Given the description of an element on the screen output the (x, y) to click on. 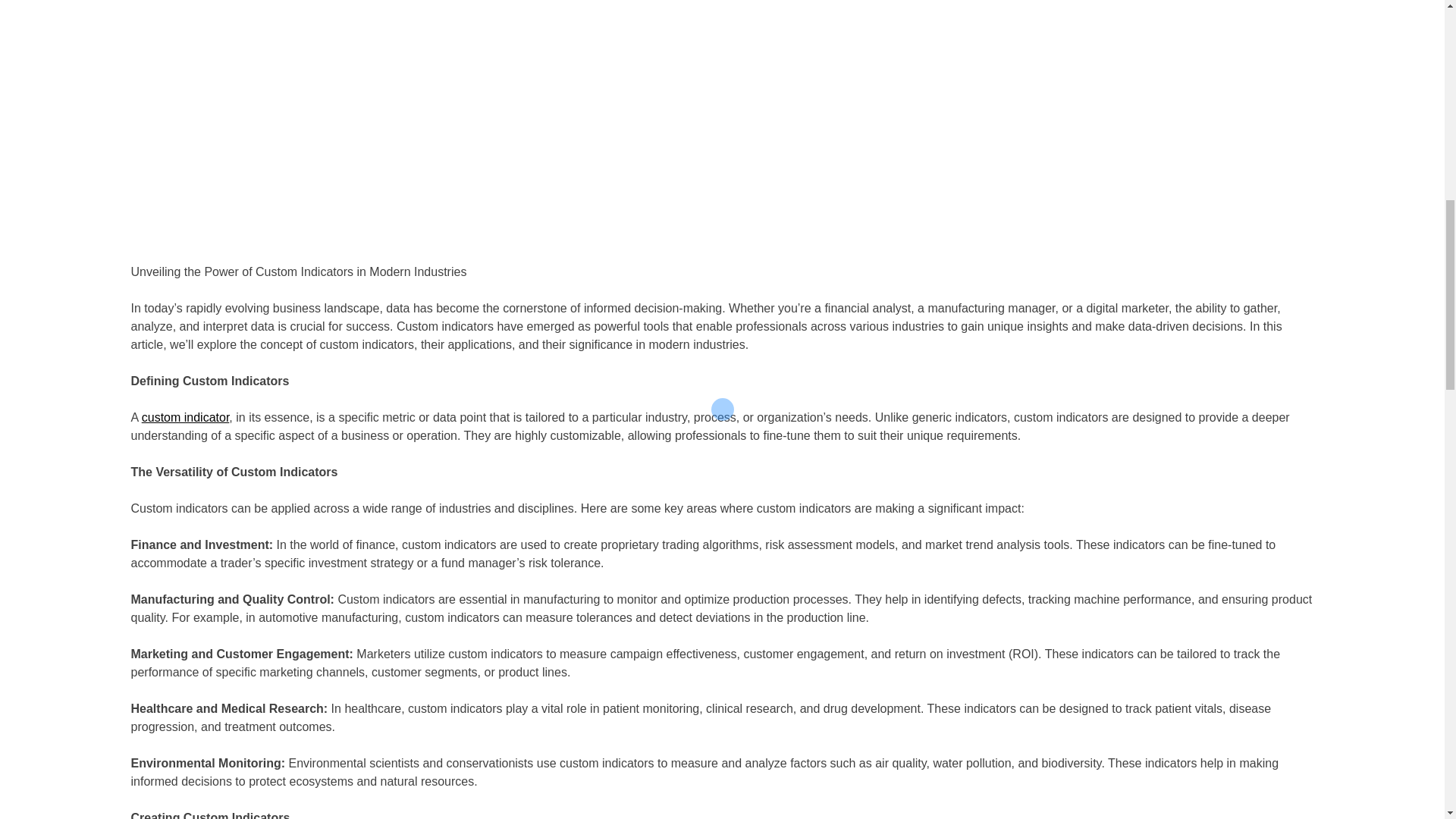
custom indicator (185, 417)
custom indicator (185, 417)
